Given the description of an element on the screen output the (x, y) to click on. 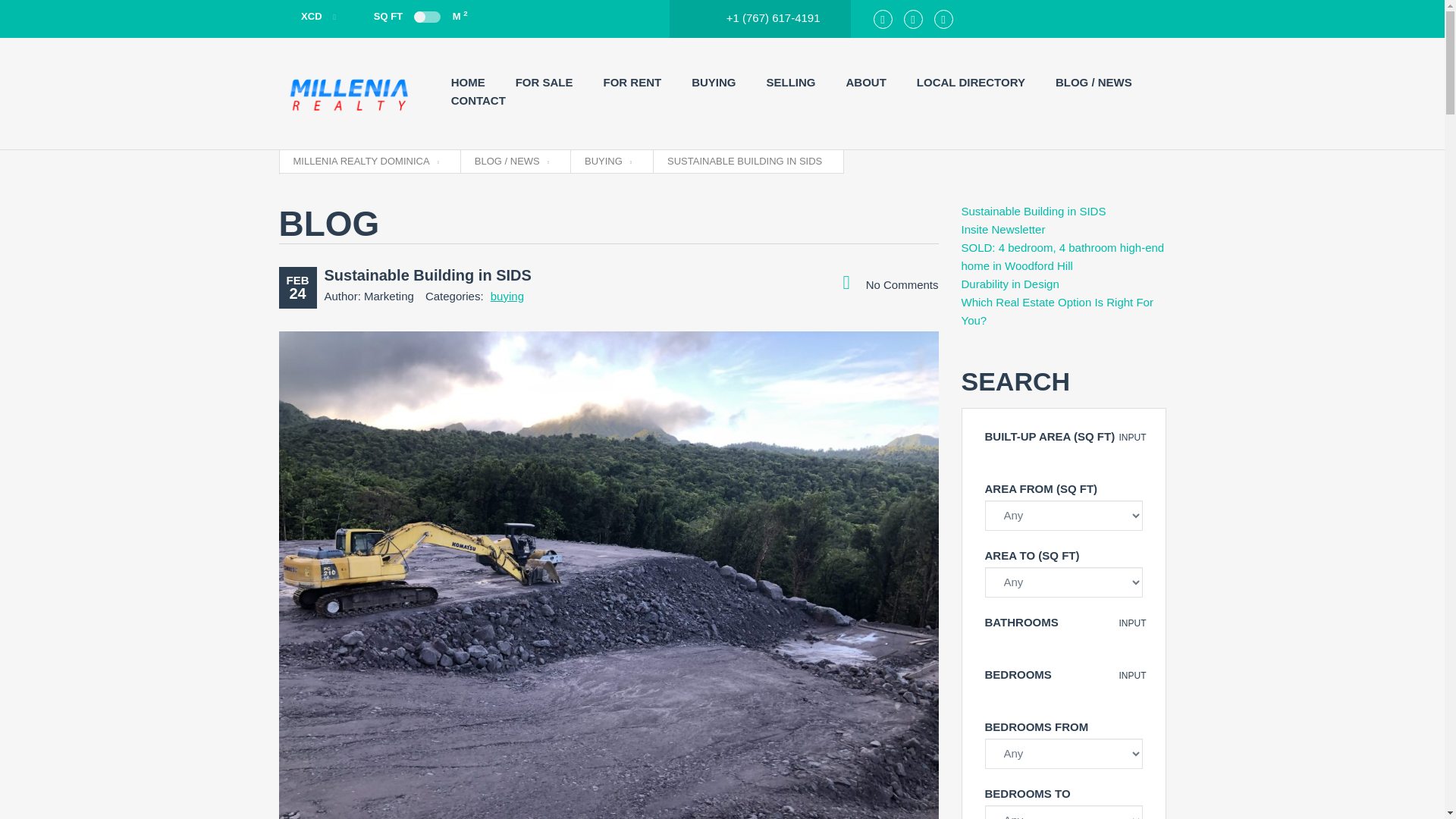
SELLING (791, 82)
FOR SALE (544, 82)
HOME (467, 82)
BUYING (713, 82)
LOCAL DIRECTORY (971, 82)
ABOUT (865, 82)
XCD (307, 17)
Go to Millenia Realty Dominica. (365, 161)
Go to the buying Category archives. (608, 161)
Millenia Realty Dominica (349, 93)
